Given the description of an element on the screen output the (x, y) to click on. 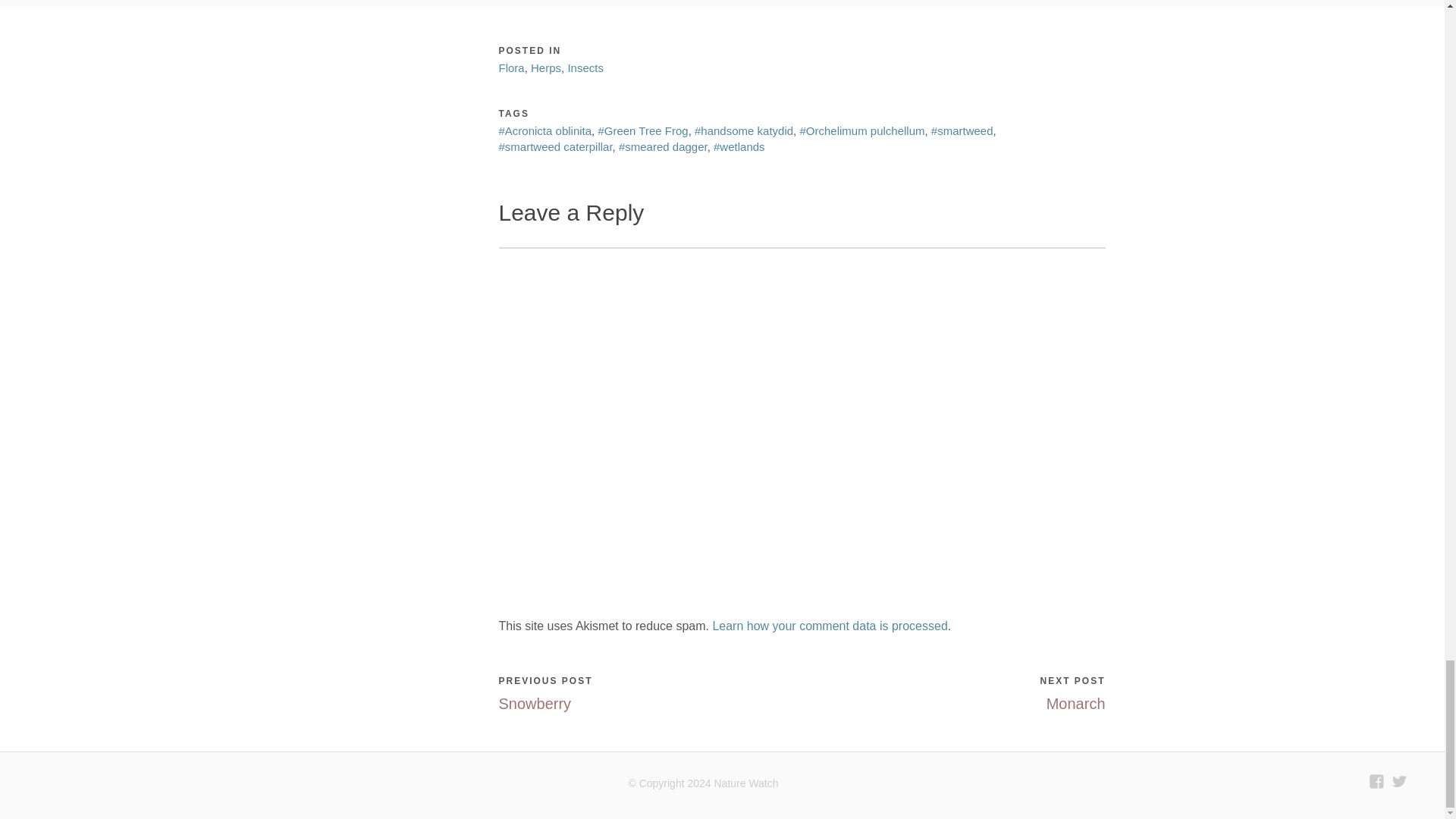
Insects (585, 67)
Snowberry (535, 703)
Herps (545, 67)
Flora (511, 67)
Monarch (1075, 703)
Learn how your comment data is processed (829, 625)
